Given the description of an element on the screen output the (x, y) to click on. 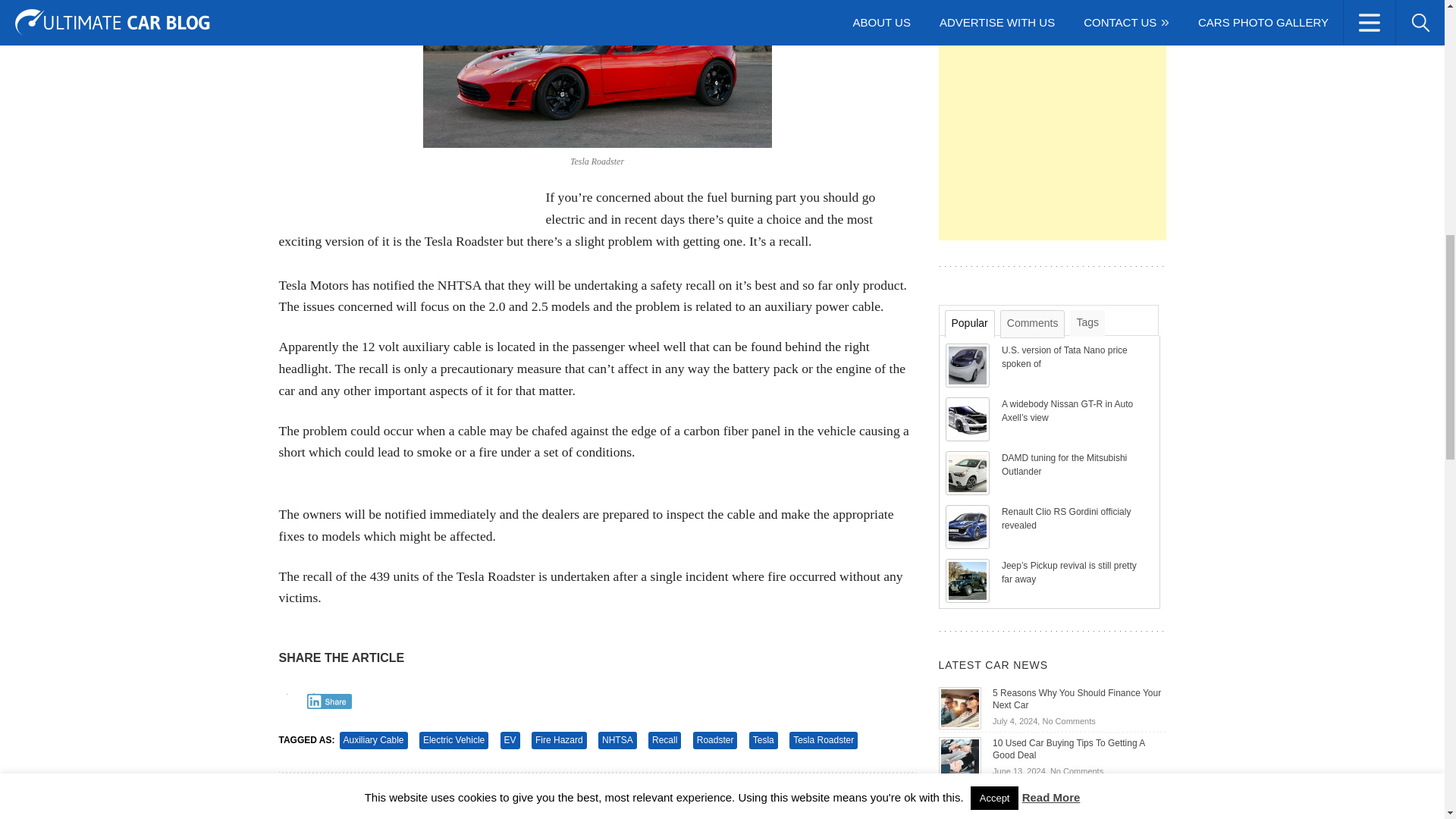
EV (509, 740)
Share (329, 701)
Advertisement (1052, 120)
U.S. version of Tata Nano price spoken of (1063, 356)
Electric Vehicle (453, 740)
U.S. version of Tata Nano price spoken of (967, 364)
Auxiliary Cable (373, 740)
